Given the description of an element on the screen output the (x, y) to click on. 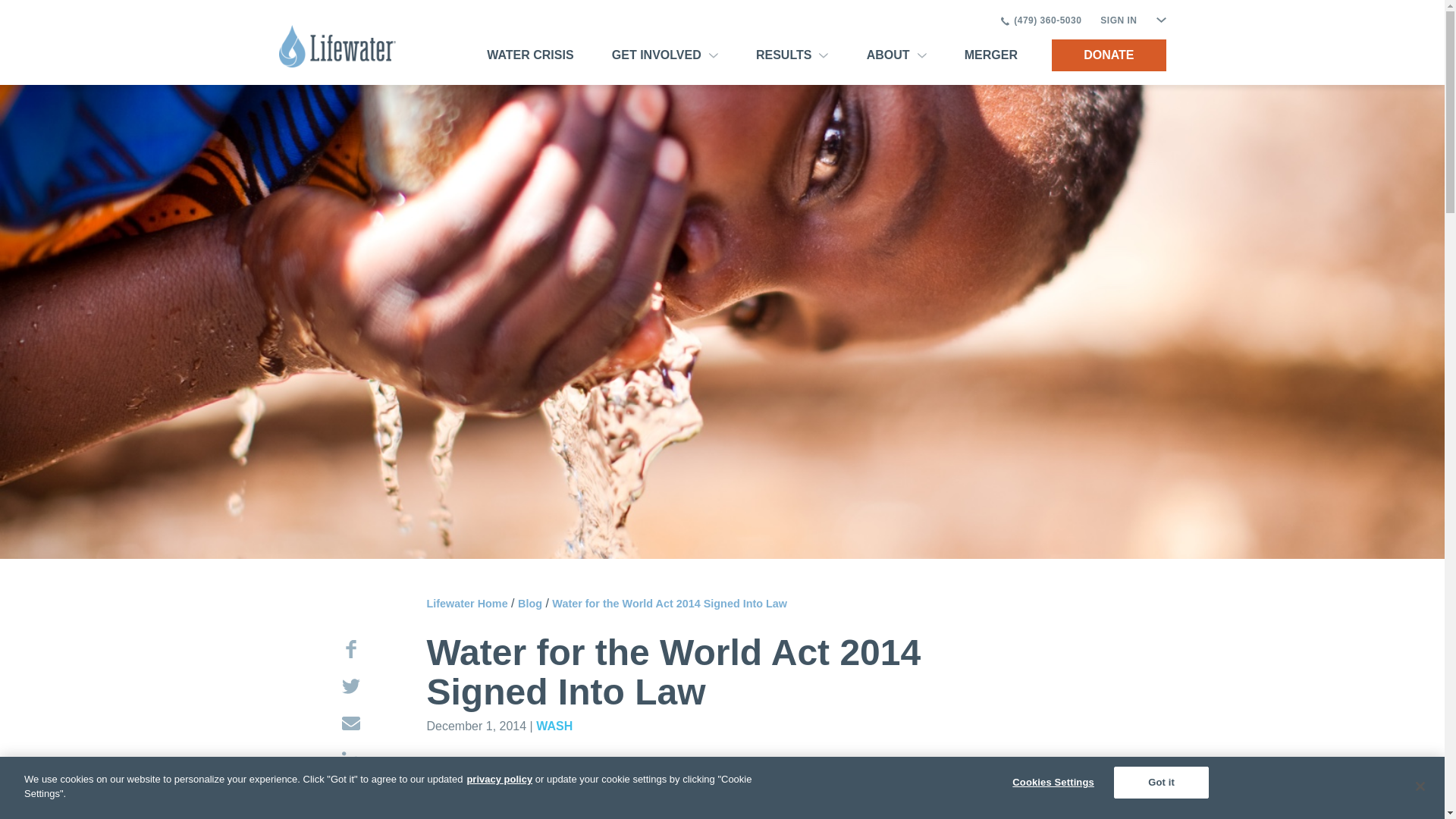
DONATE (1108, 55)
ABOUT (900, 54)
MERGER (990, 54)
WATER CRISIS (529, 54)
GET INVOLVED (668, 54)
RESULTS (795, 54)
SIGN IN (1118, 20)
